Given the description of an element on the screen output the (x, y) to click on. 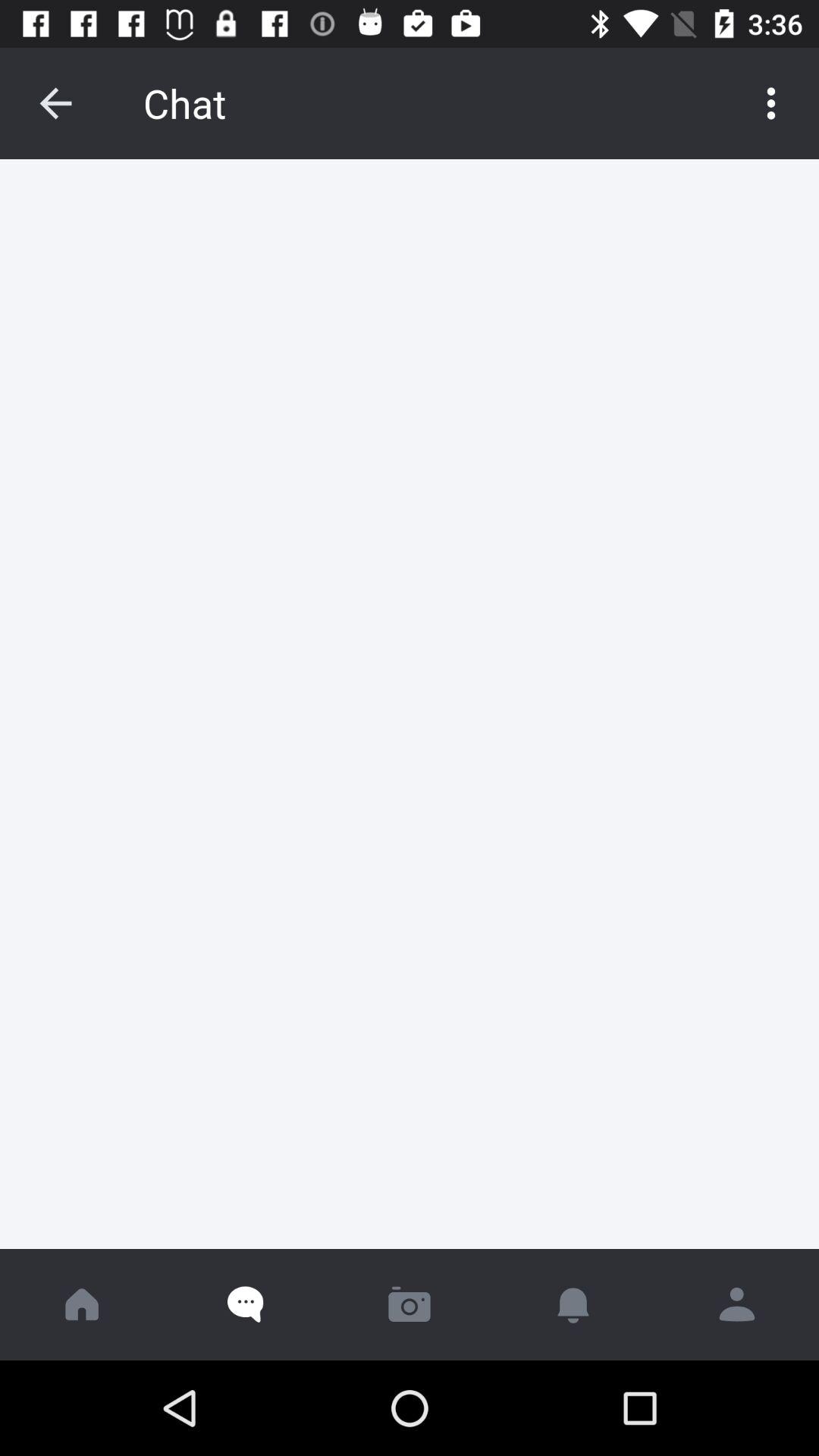
choose the icon to the right of the chat item (771, 103)
